Given the description of an element on the screen output the (x, y) to click on. 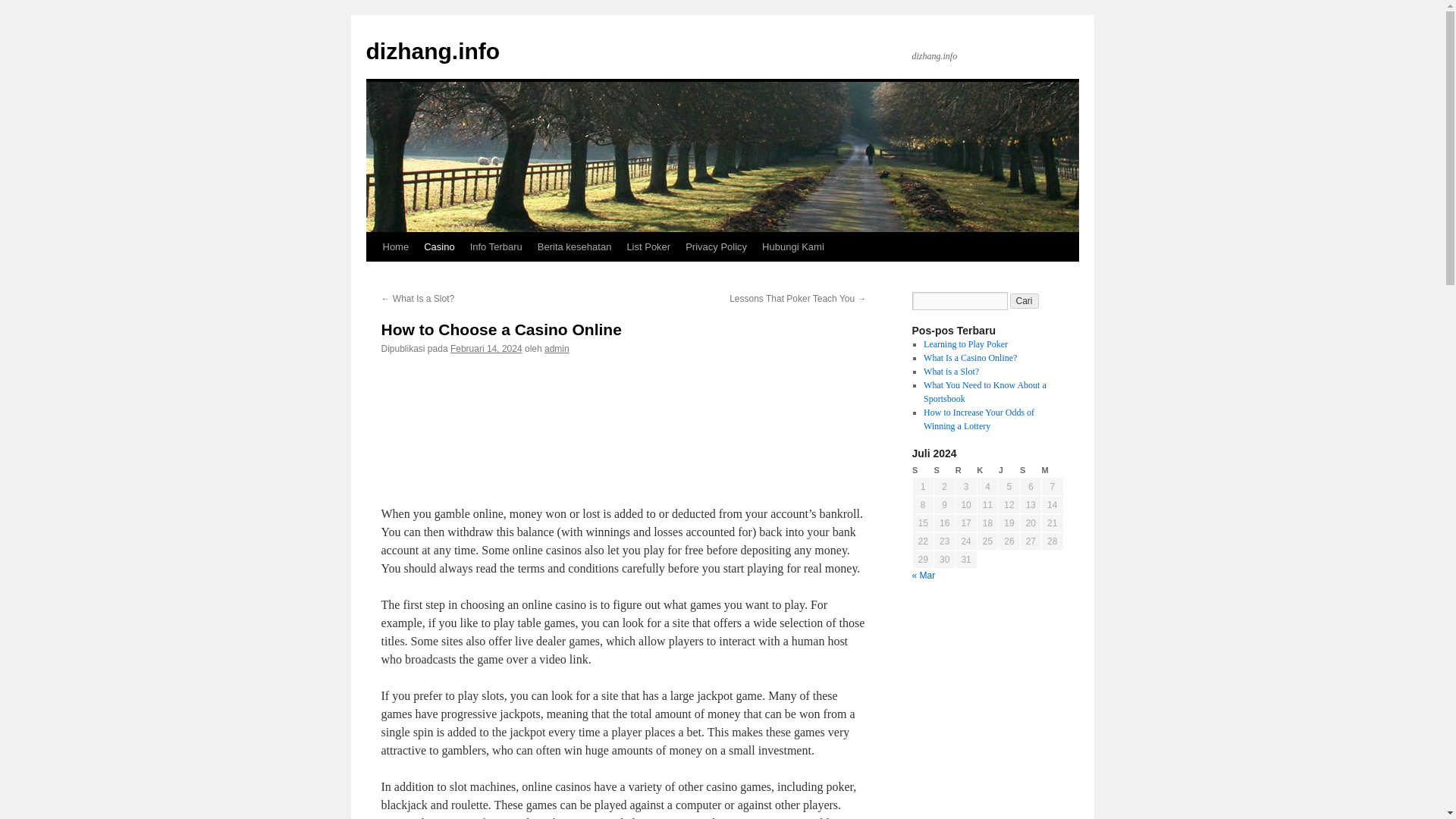
Langsung ke isi (372, 274)
dizhang.info (432, 50)
Casino (438, 246)
Berita kesehatan (574, 246)
Sabtu (1030, 470)
How to Increase Your Odds of Winning a Lottery (978, 419)
Minggu (1052, 470)
Februari 14, 2024 (485, 348)
What You Need to Know About a Sportsbook (984, 392)
Home (395, 246)
Privacy Policy (716, 246)
List Poker (648, 246)
Jumat (1009, 470)
10:53 am (485, 348)
Kamis (986, 470)
